Given the description of an element on the screen output the (x, y) to click on. 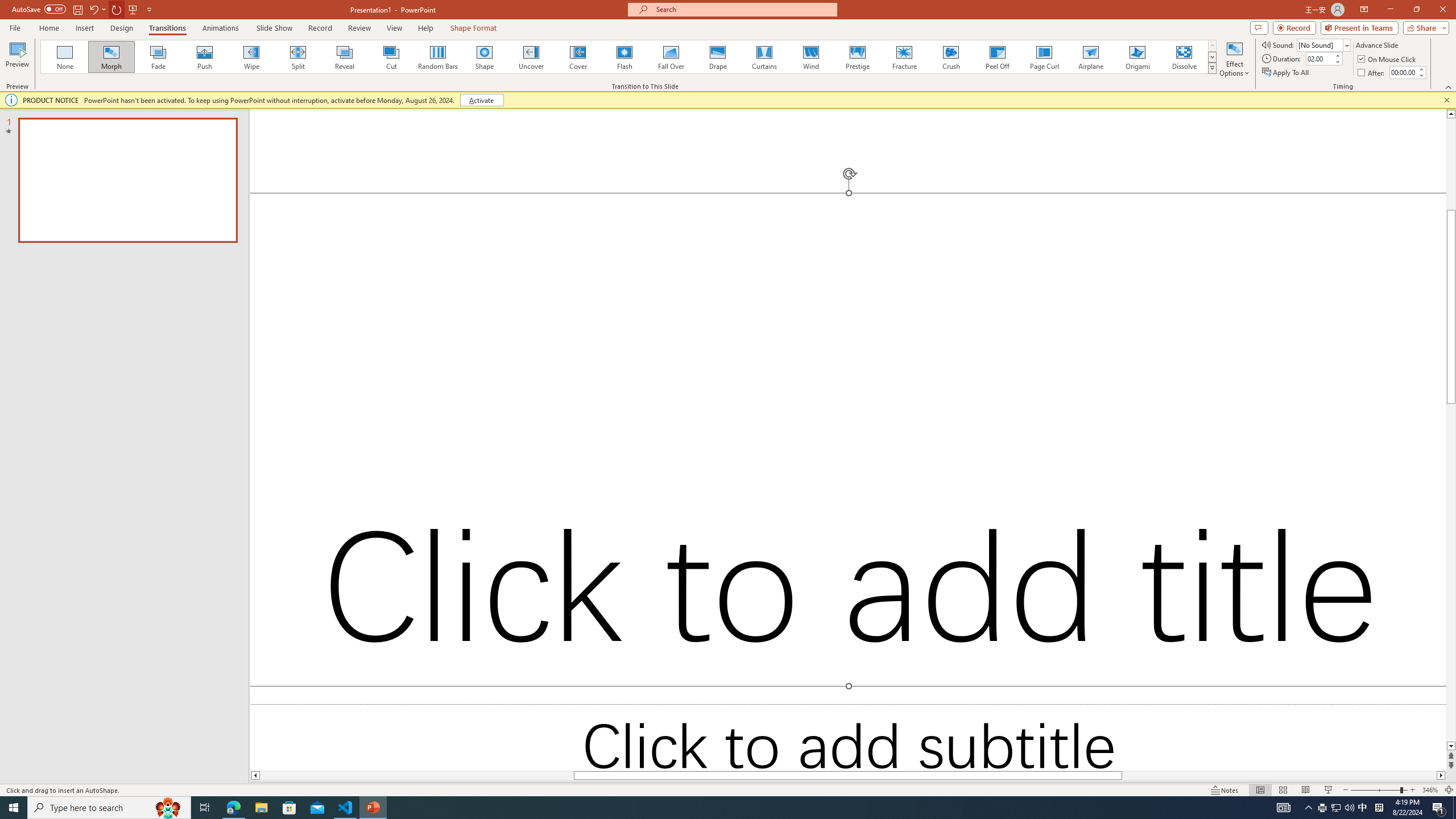
Dissolve (1183, 56)
Split (298, 56)
Apply To All (1286, 72)
Wind (810, 56)
Less (1420, 75)
Shape Format (473, 28)
Cover (577, 56)
Fall Over (670, 56)
Morph (111, 56)
